Given the description of an element on the screen output the (x, y) to click on. 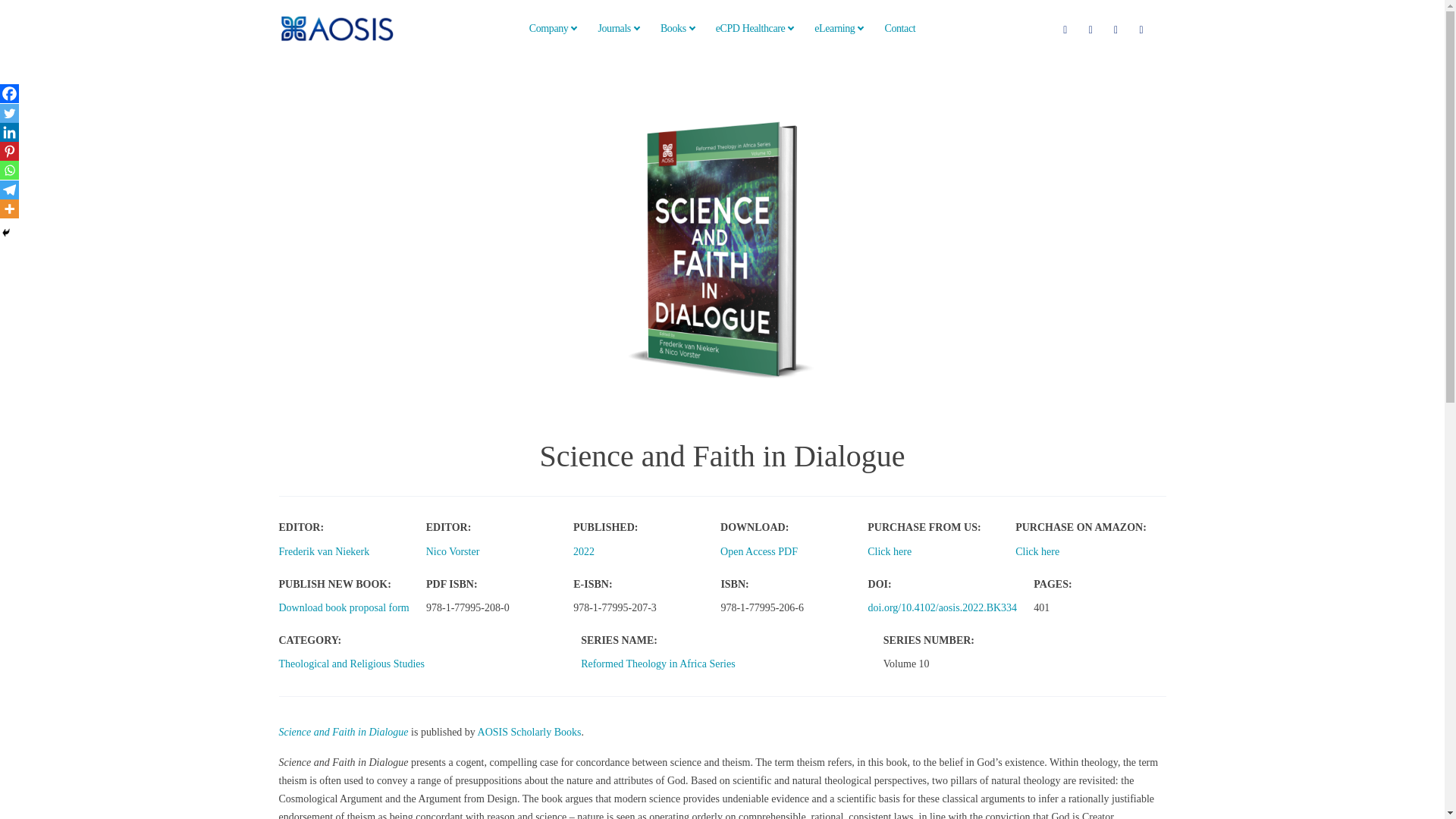
Journals (618, 28)
Whatsapp (9, 169)
Linkedin (9, 131)
Telegram (9, 189)
Company (552, 28)
eCPD Healthcare (754, 28)
Pinterest (9, 150)
Facebook (9, 93)
Contact (899, 28)
More (9, 208)
eLearning (838, 28)
Hide (5, 232)
